Given the description of an element on the screen output the (x, y) to click on. 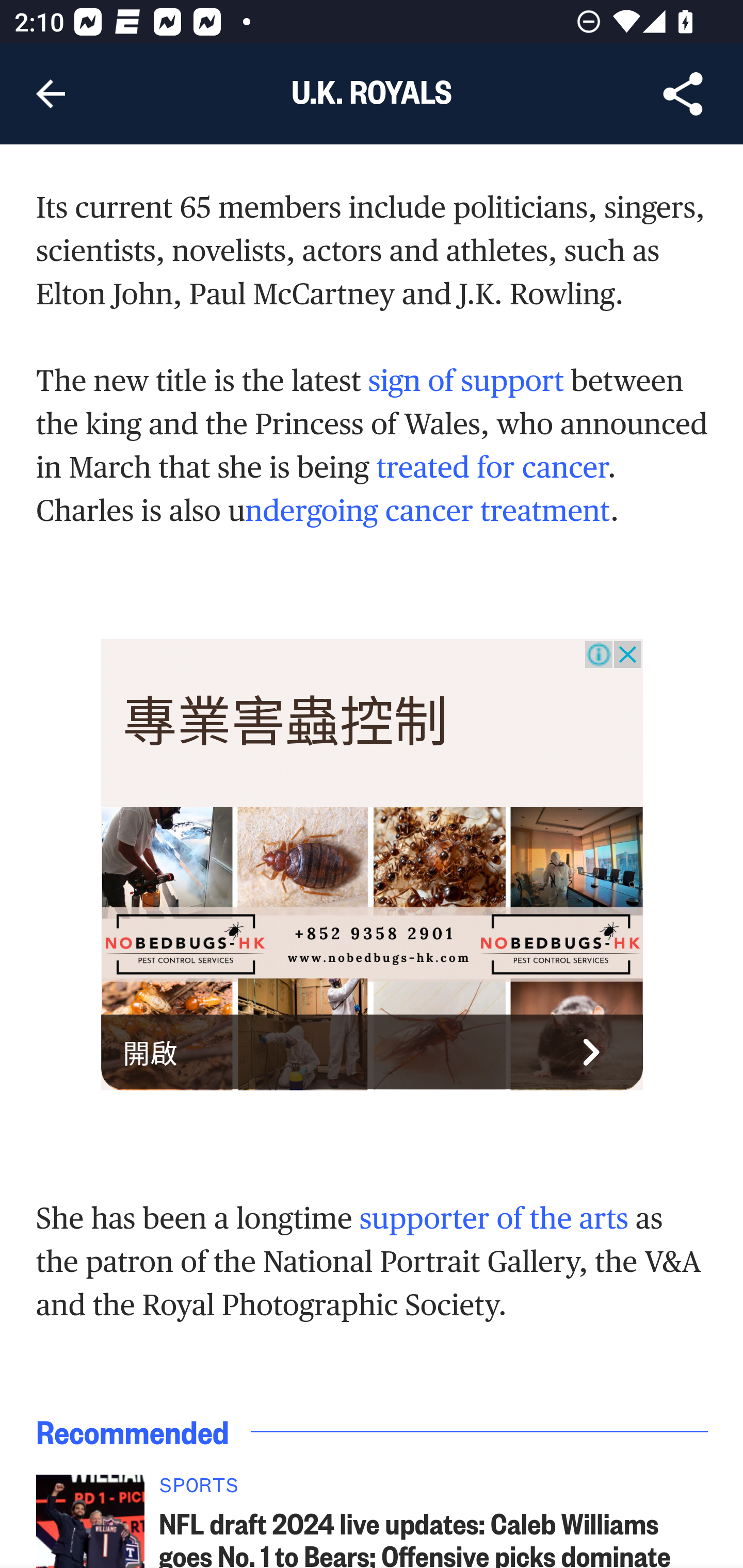
Navigate up (50, 93)
Share Article, button (683, 94)
sign of support (465, 380)
treated for cancer (491, 468)
ndergoing cancer treatment (426, 510)
專業害蟲控制 (285, 722)
開啟 (372, 1051)
supporter of the arts (493, 1217)
SPORTS (434, 1490)
nfl-draft-2024-live-updates-rcna148996 (90, 1520)
